Given the description of an element on the screen output the (x, y) to click on. 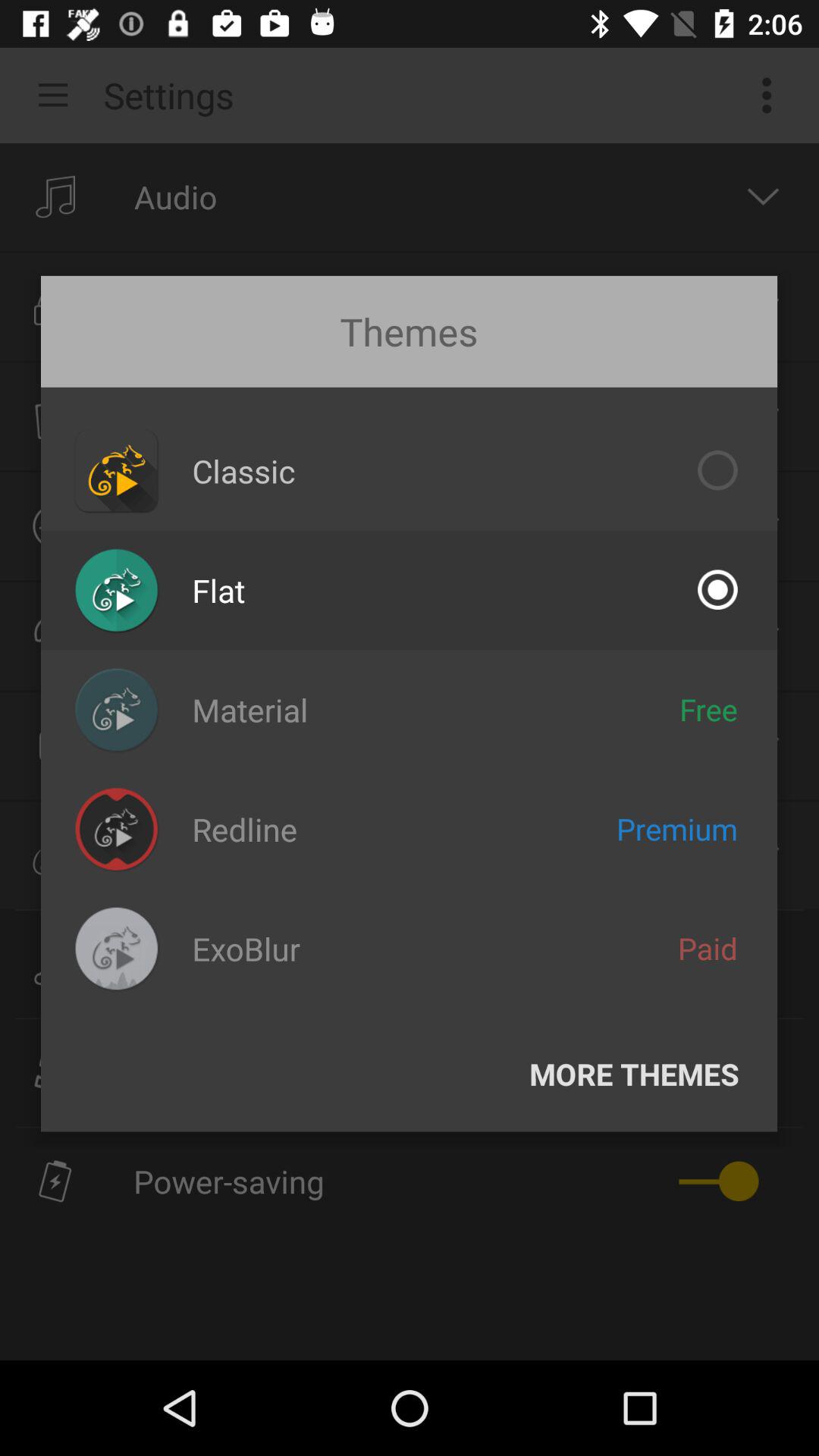
flip until the free item (708, 709)
